Given the description of an element on the screen output the (x, y) to click on. 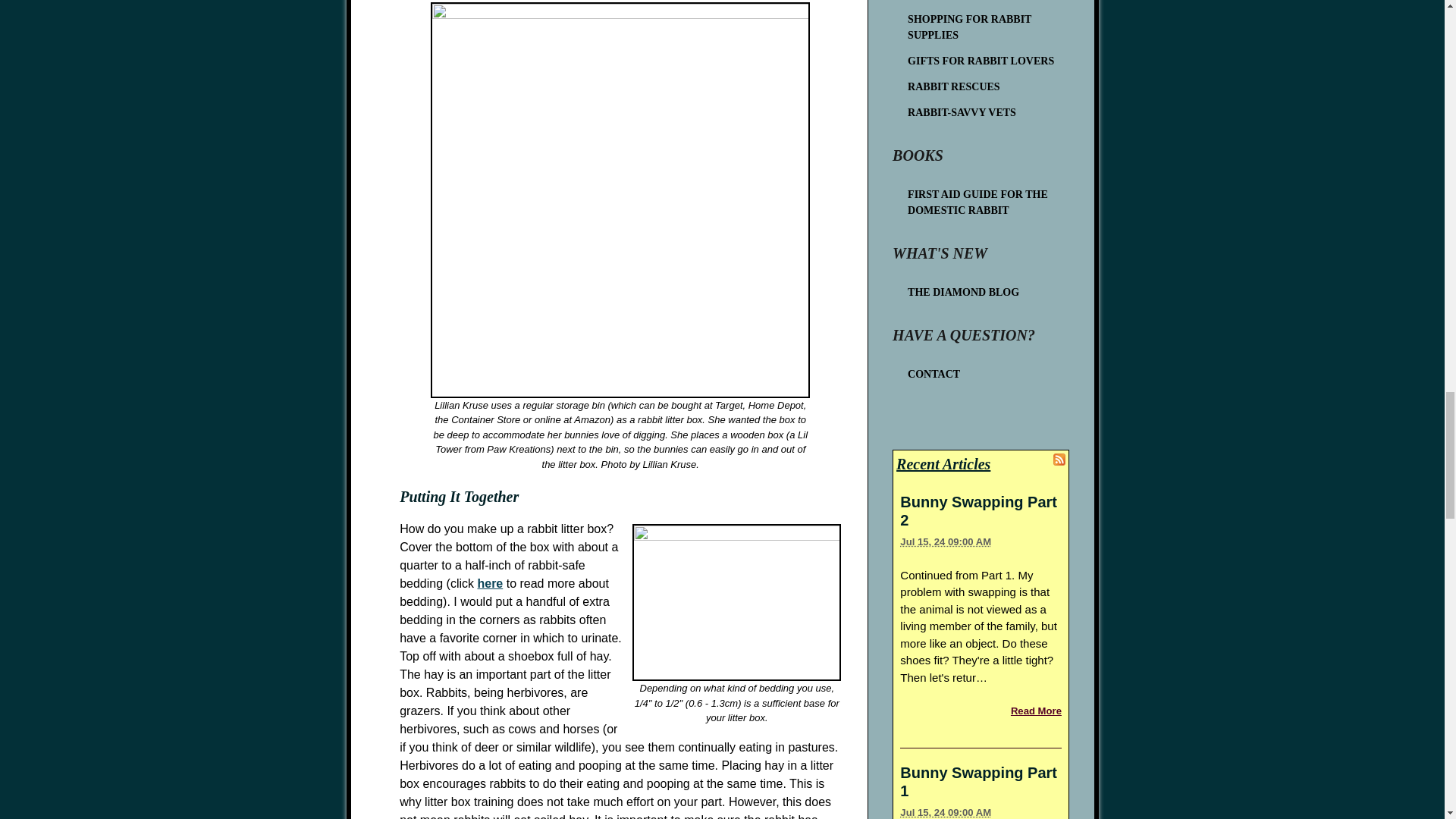
here (489, 583)
2024-07-15T09:00:00-0400 (945, 541)
2024-07-15T09:00:00-0400 (945, 812)
